Given the description of an element on the screen output the (x, y) to click on. 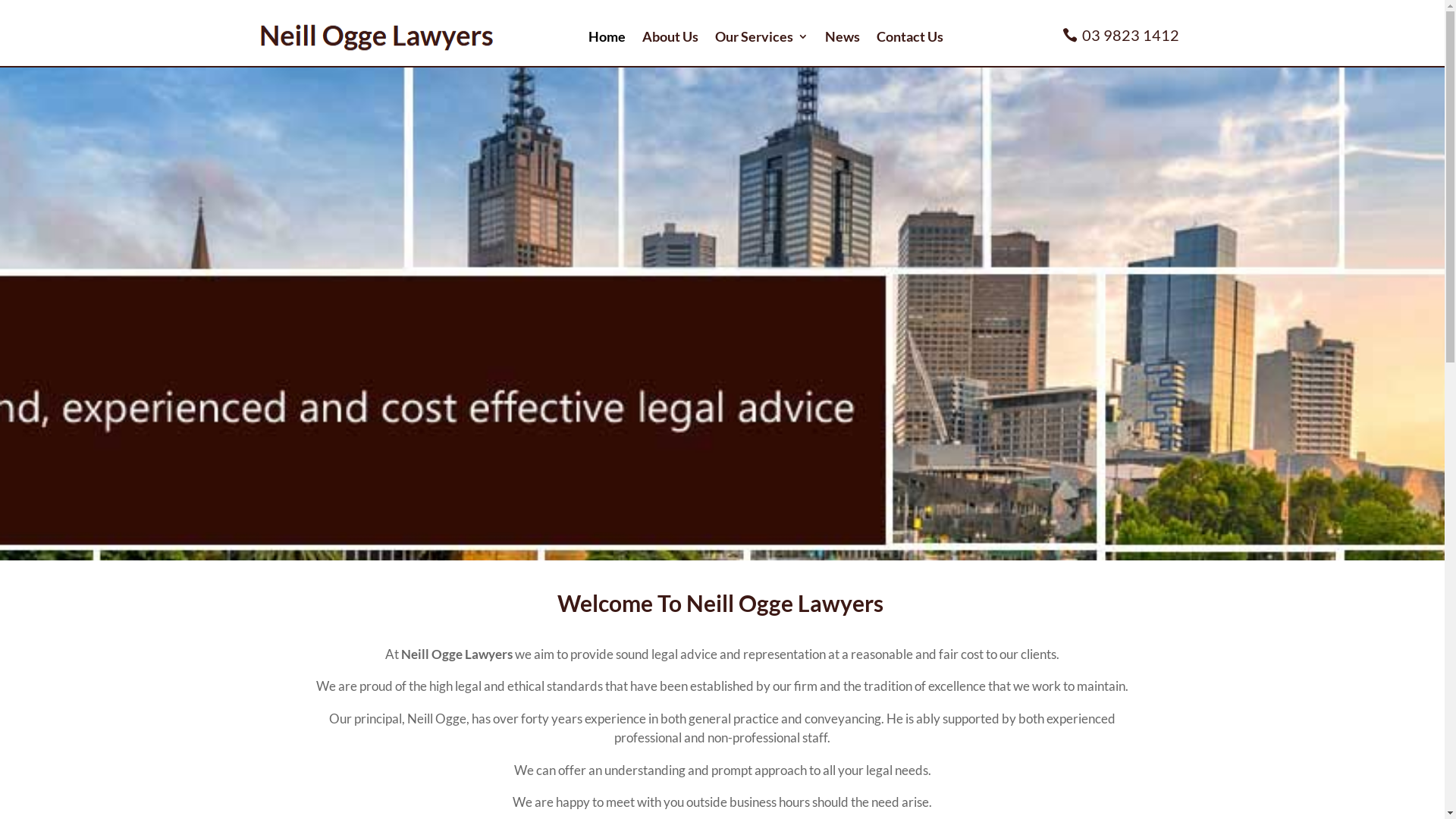
Home Element type: text (606, 36)
About Us Element type: text (670, 36)
News Element type: text (842, 36)
03 9823 1412 Element type: text (1122, 34)
Our Services Element type: text (761, 36)
Contact Us Element type: text (909, 36)
